Given the description of an element on the screen output the (x, y) to click on. 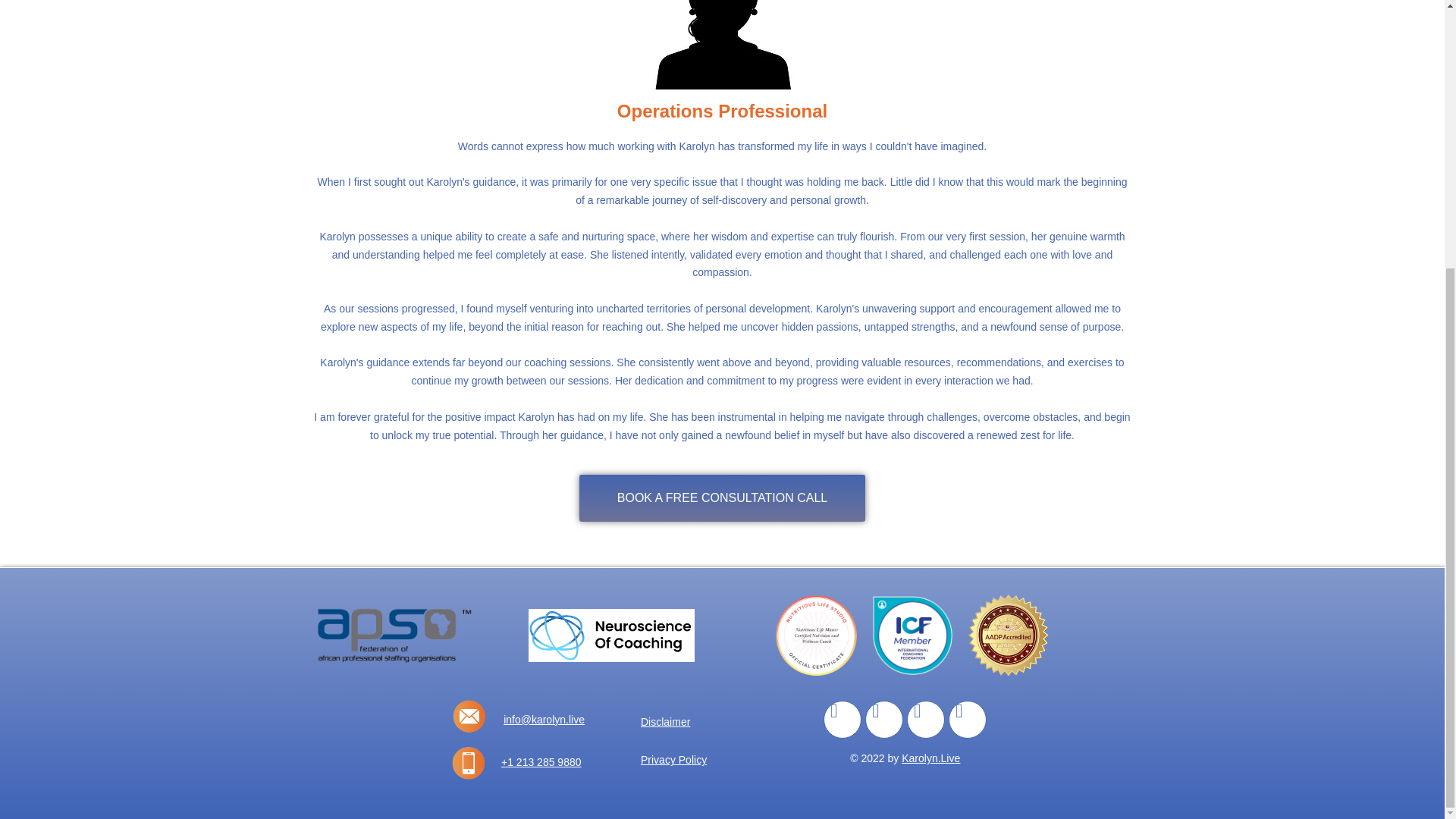
Karolyn.Live (930, 758)
Disclaimer (693, 721)
Privacy Policy (693, 759)
BOOK A FREE CONSULTATION CALL (721, 498)
